Given the description of an element on the screen output the (x, y) to click on. 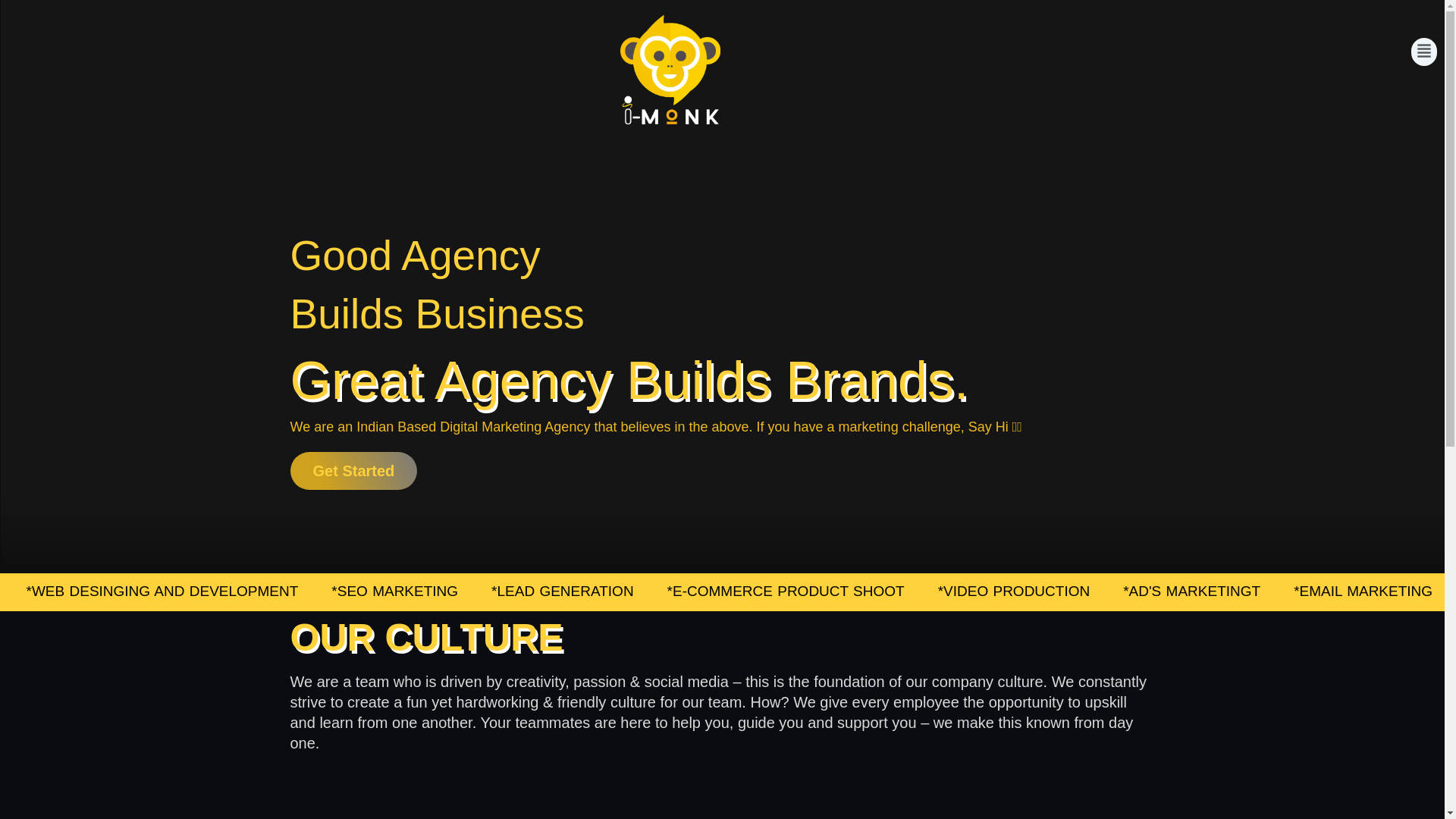
Get Started (352, 470)
